Given the description of an element on the screen output the (x, y) to click on. 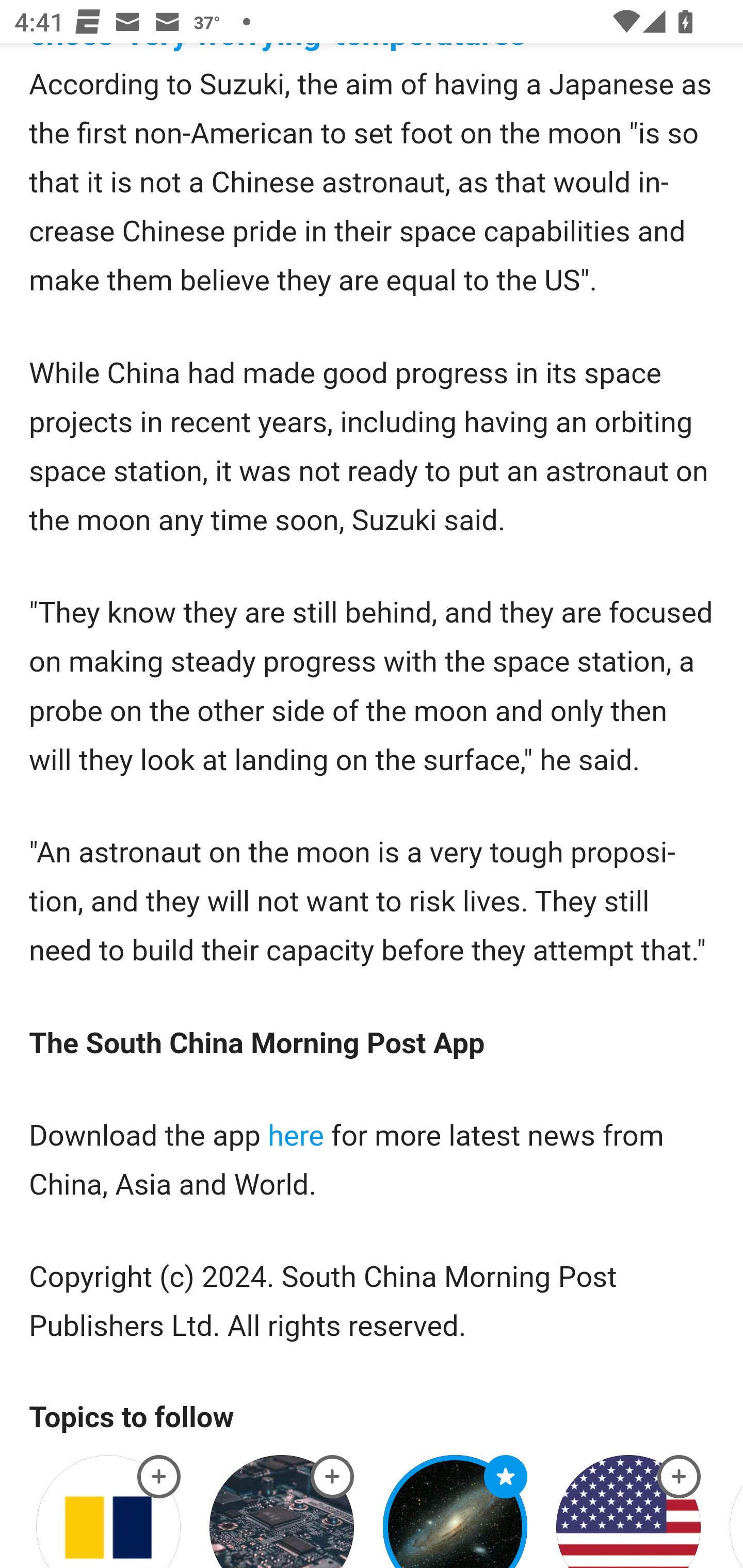
here (296, 1136)
